Given the description of an element on the screen output the (x, y) to click on. 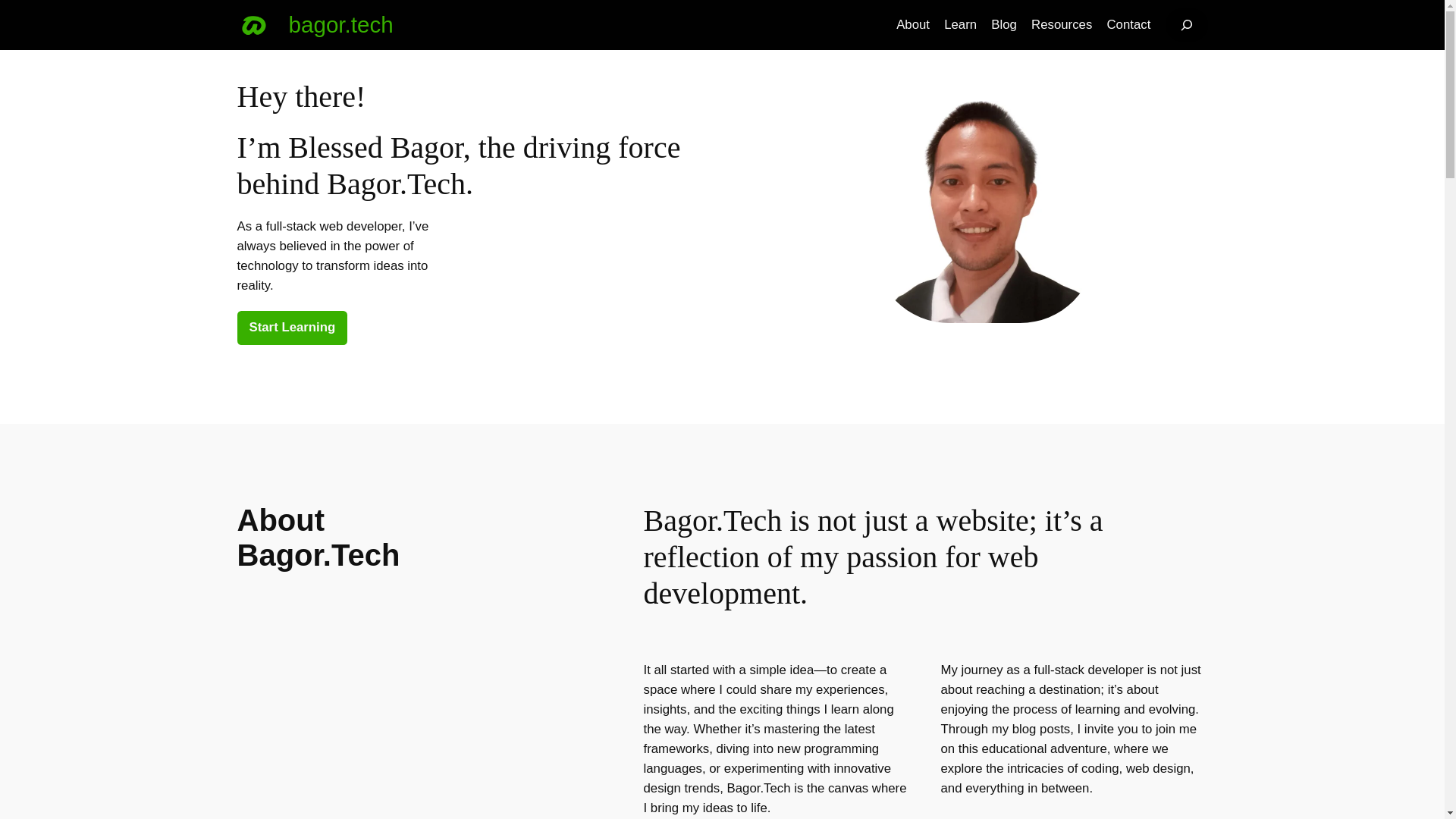
bagor.tech (340, 24)
Blog (1003, 25)
About (913, 25)
Start Learning (291, 327)
Learn (959, 25)
About 1 (984, 211)
Contact (1128, 25)
Resources (1061, 25)
